Given the description of an element on the screen output the (x, y) to click on. 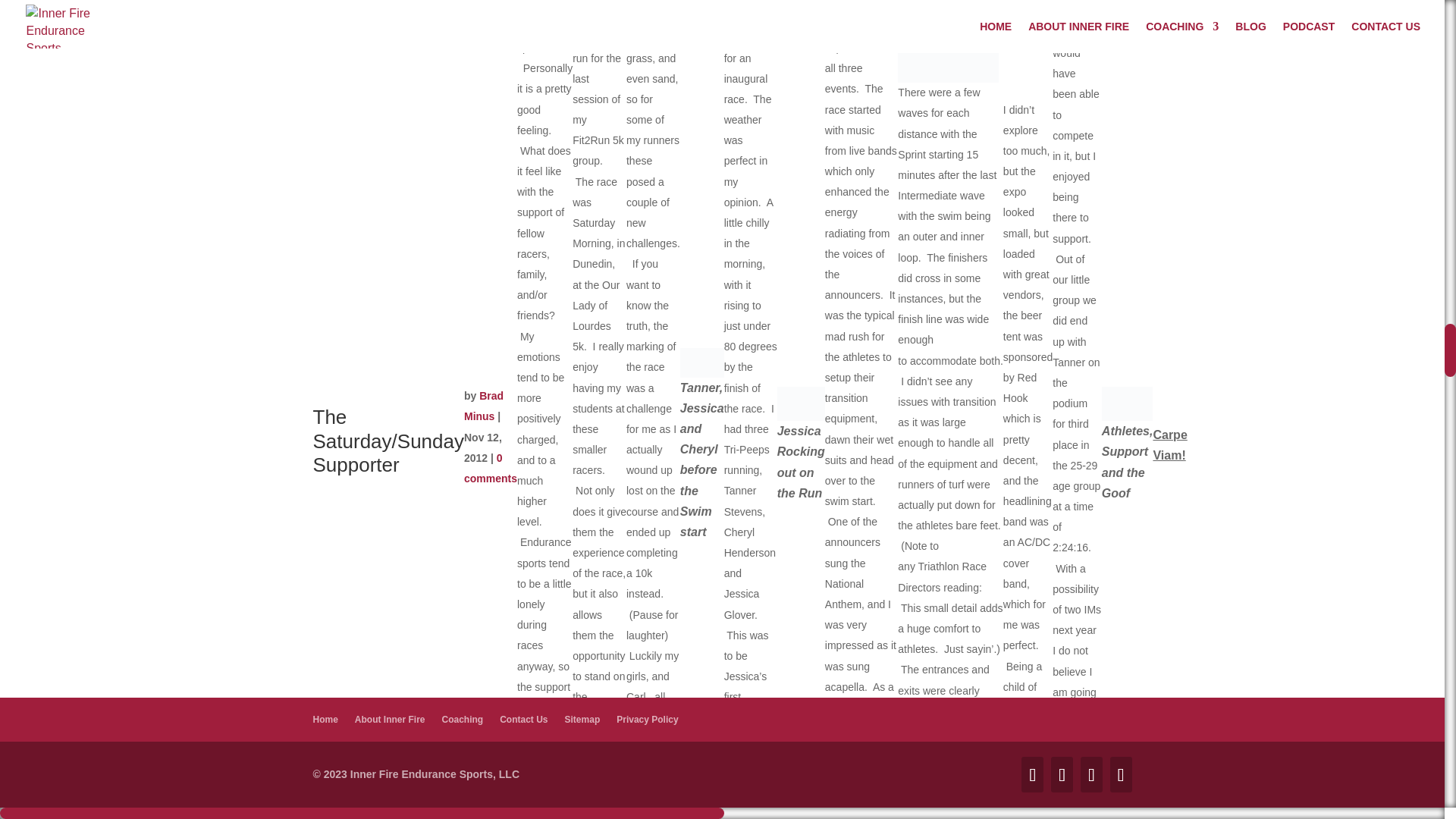
Posts by Brad Minus (483, 405)
